Given the description of an element on the screen output the (x, y) to click on. 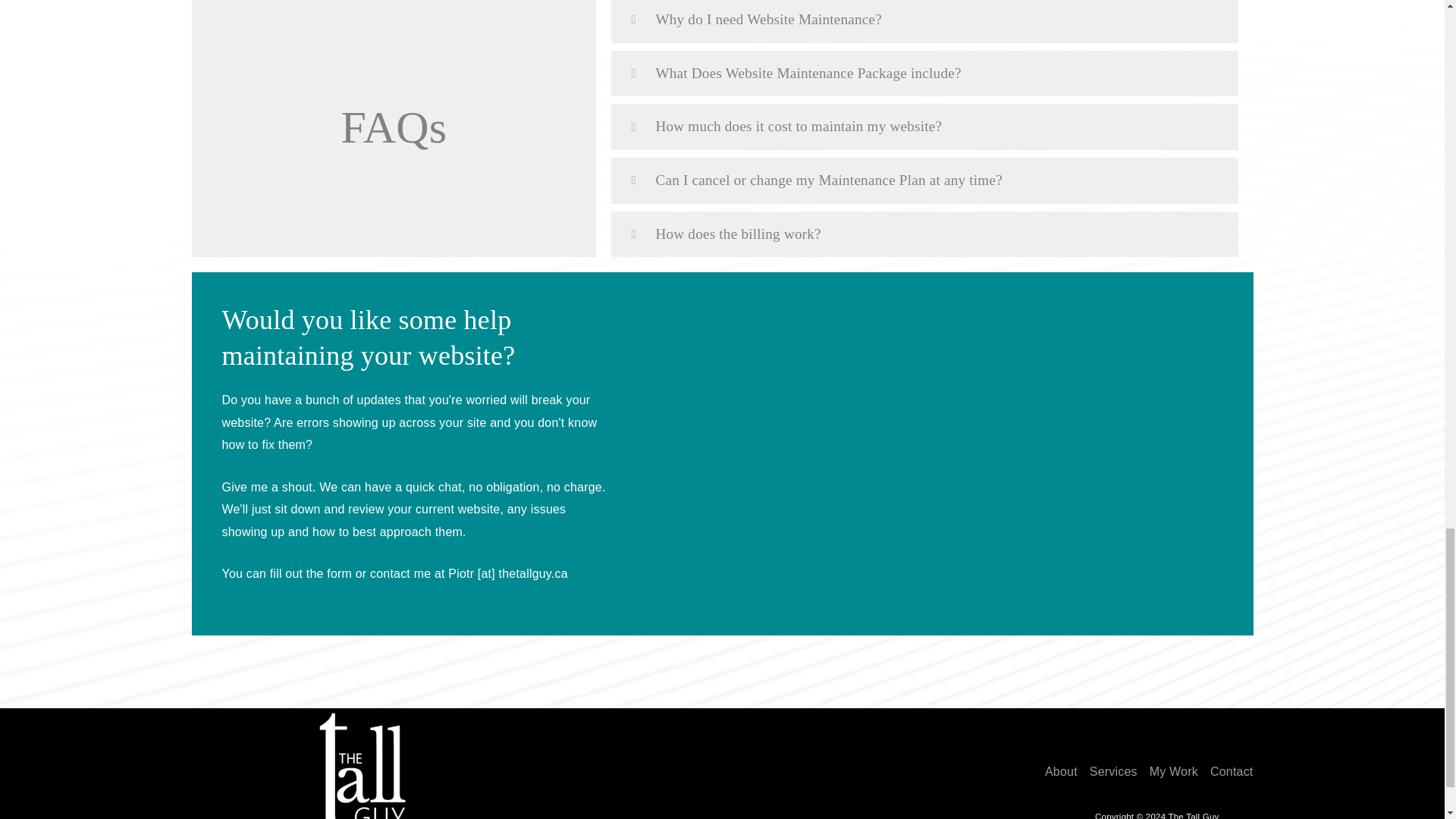
Services (1112, 771)
My Work (1173, 771)
